Given the description of an element on the screen output the (x, y) to click on. 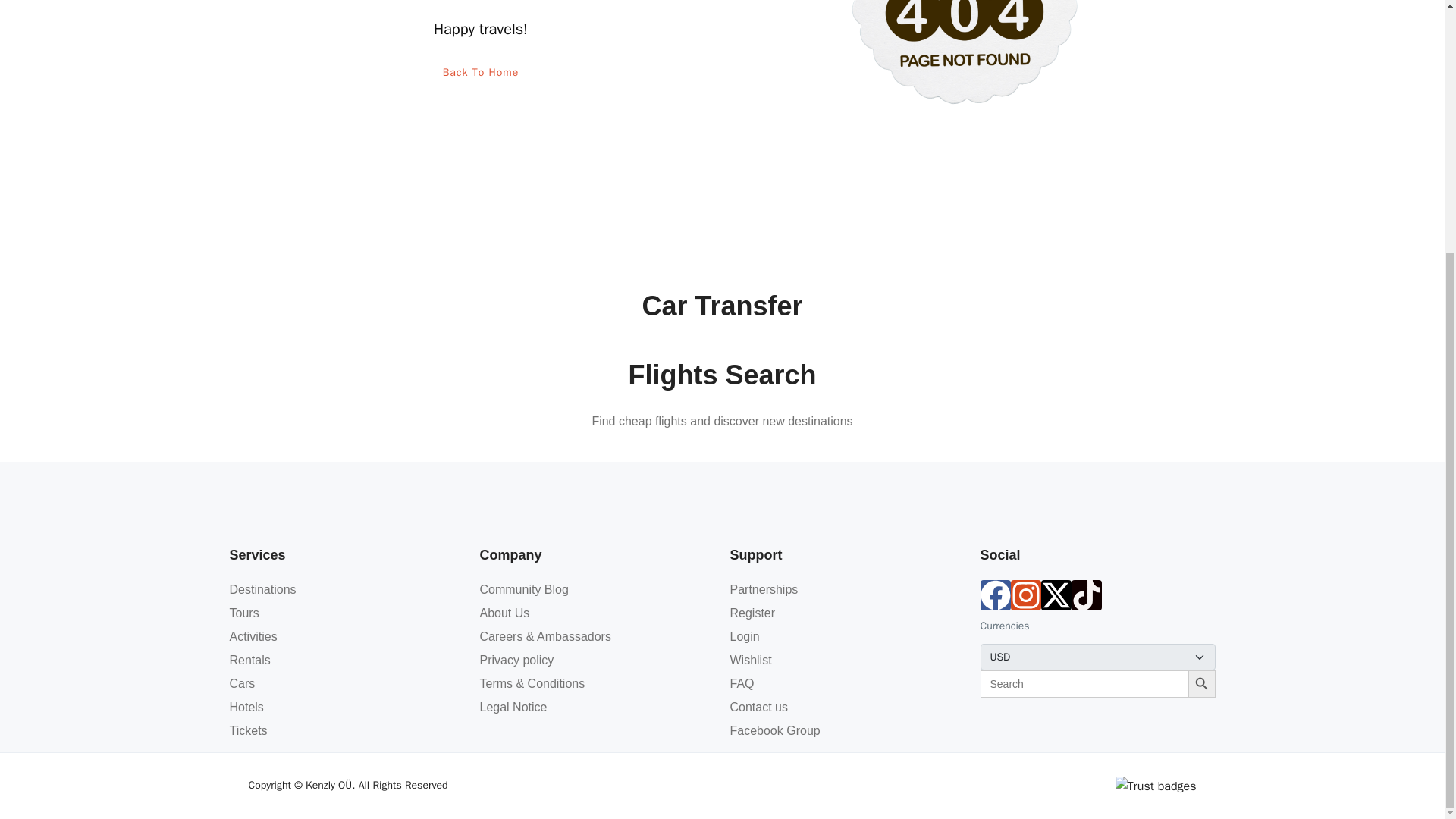
Hotels (245, 707)
Cars (241, 683)
Back To Home (480, 72)
Wishlist (750, 659)
Register (751, 612)
About Us (504, 612)
Activities (252, 635)
Legal Notice (513, 707)
Rentals (248, 659)
Login (743, 635)
Community Blog (523, 589)
Partnerships (763, 589)
Tours (243, 612)
Privacy policy (516, 659)
Tickets (247, 730)
